Given the description of an element on the screen output the (x, y) to click on. 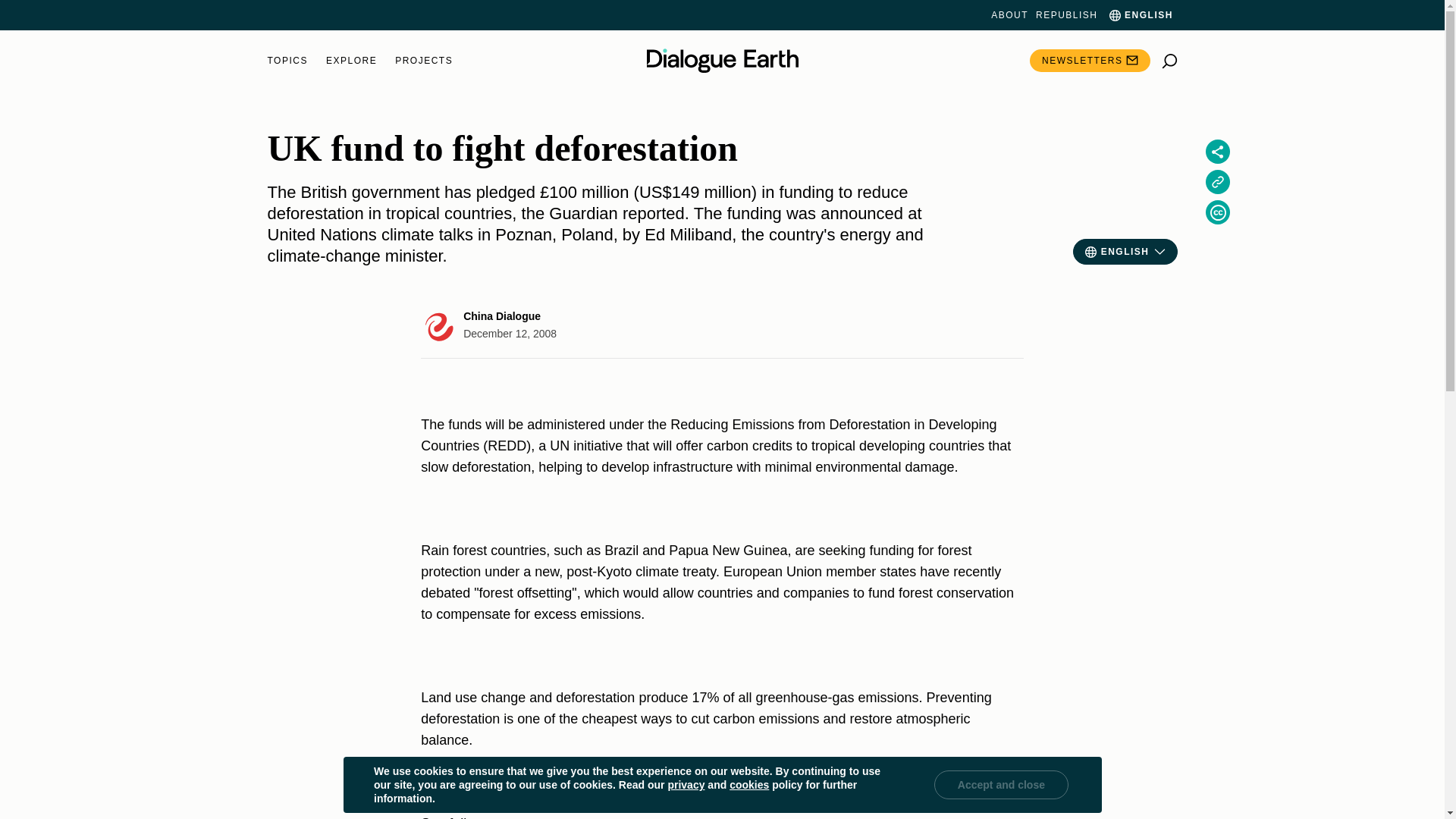
REPUBLISH (1066, 14)
ENGLISH (1139, 15)
ABOUT (1009, 14)
English (1139, 15)
TOPICS (286, 60)
EXPLORE (351, 60)
